Given the description of an element on the screen output the (x, y) to click on. 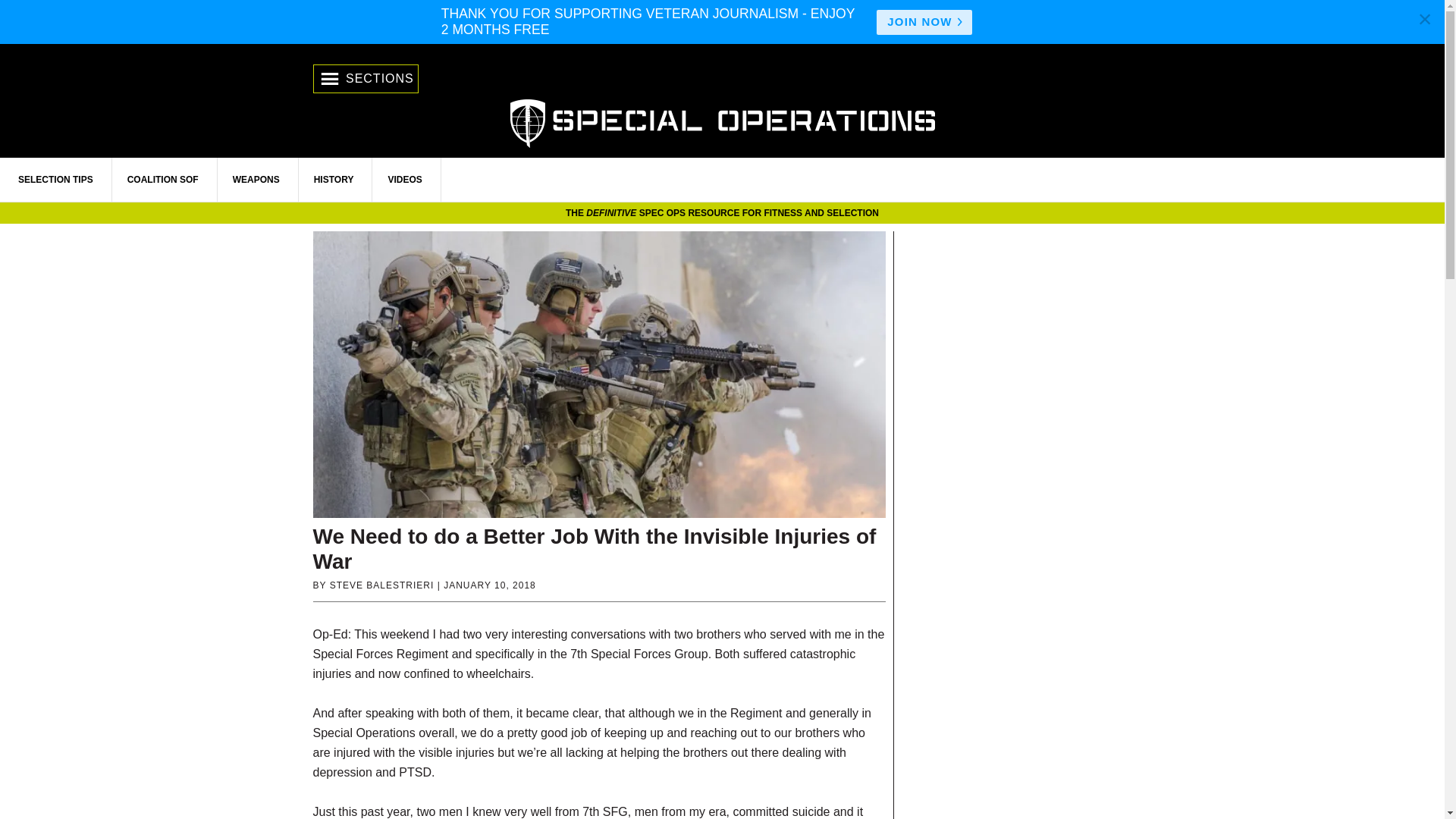
VIDEOS (405, 179)
WEAPONS (256, 179)
COALITION SOF (162, 179)
SELECTION TIPS (56, 179)
STEVE BALESTRIERI (381, 584)
SPECIALOPERATIONS.COM (722, 121)
HISTORY (333, 179)
SECTIONS (365, 78)
